Given the description of an element on the screen output the (x, y) to click on. 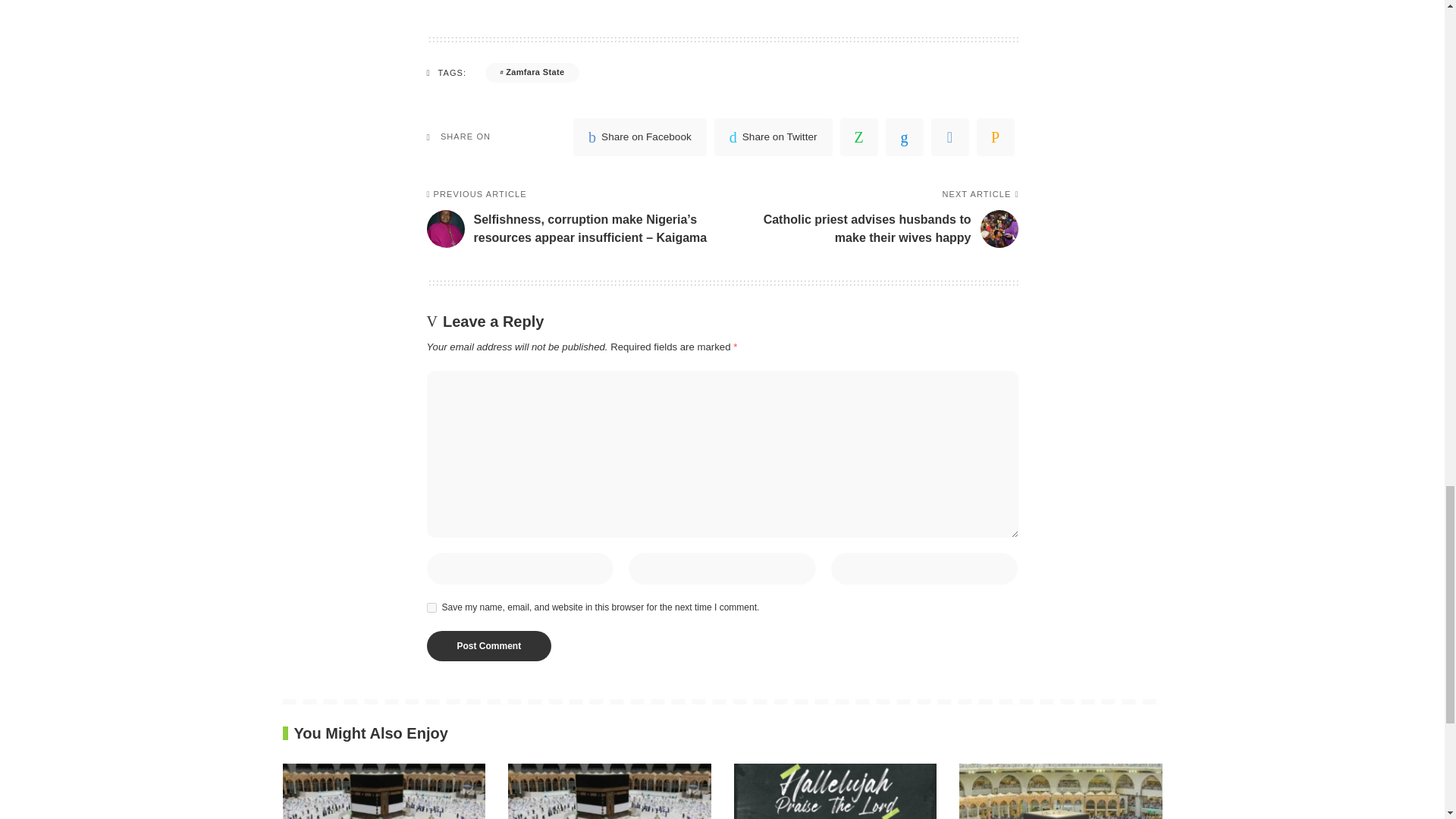
WhatsApp (858, 136)
Zamfara State (531, 72)
Share on Facebook (639, 136)
Zamfara State (531, 72)
yes (430, 607)
Facebook (639, 136)
linkedIn (904, 136)
Post Comment (488, 645)
Post Comment (488, 645)
Twitter (773, 136)
